Given the description of an element on the screen output the (x, y) to click on. 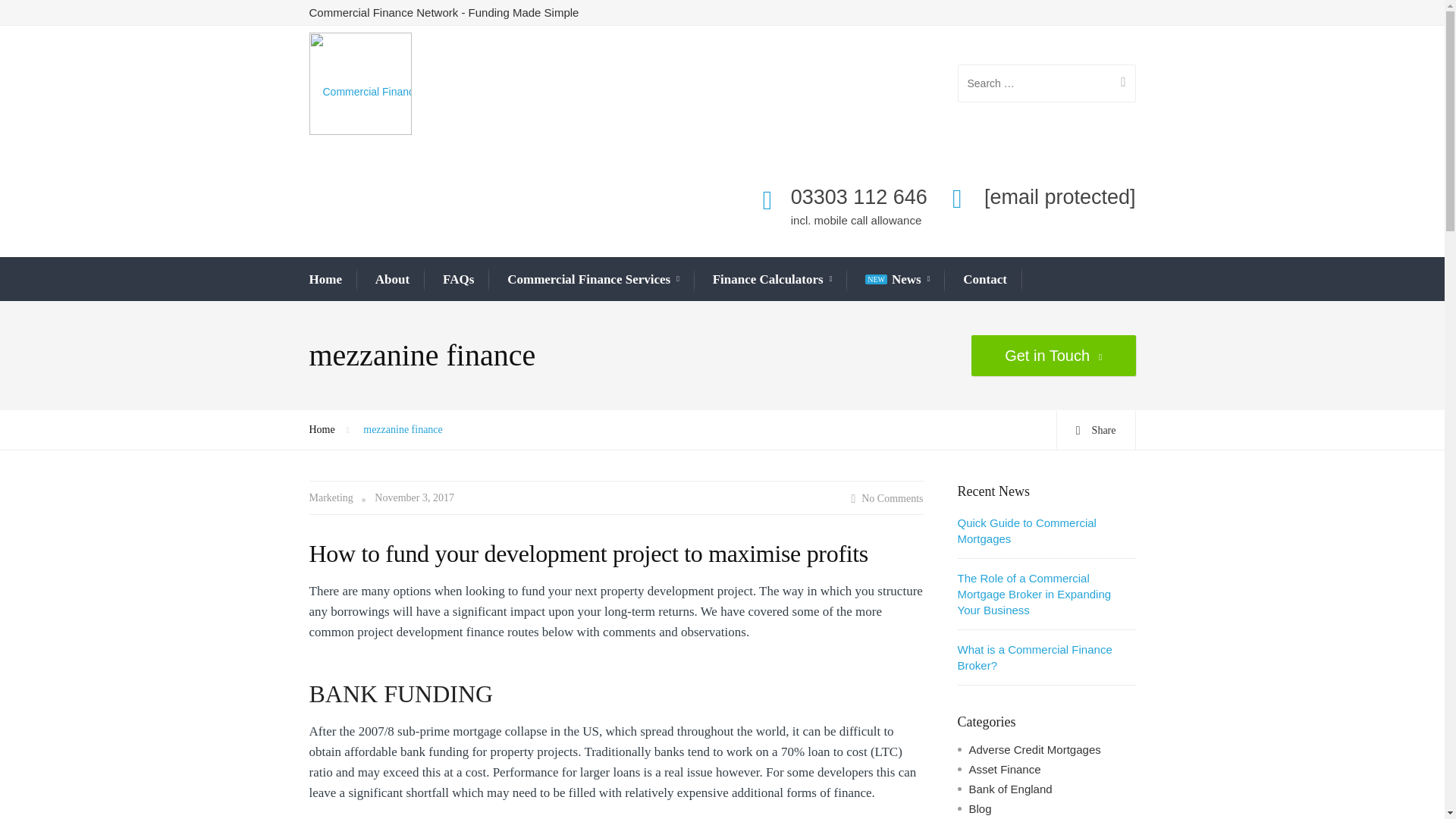
Commercial Finance Services (592, 280)
Contact (984, 279)
03303 112 646 (858, 196)
Home (325, 279)
Finance Calculators (772, 280)
About (392, 279)
NEWNews (897, 280)
Search (1117, 83)
Search (1117, 83)
FAQs (458, 279)
